Given the description of an element on the screen output the (x, y) to click on. 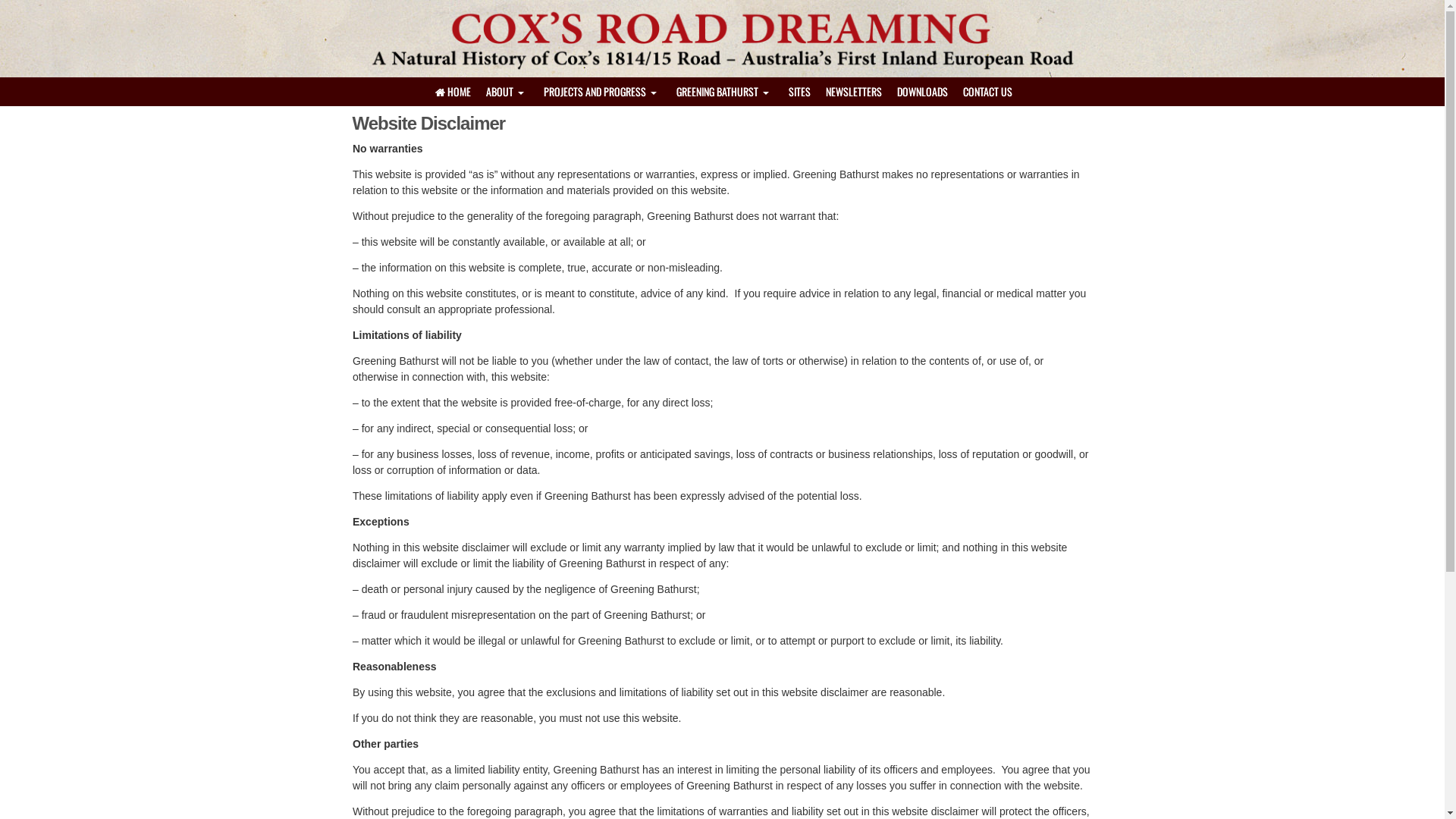
SITES Element type: text (799, 91)
GREENING BATHURST Element type: text (724, 91)
PROJECTS AND PROGRESS Element type: text (601, 91)
ABOUT Element type: text (506, 91)
DOWNLOADS Element type: text (921, 91)
NEWSLETTERS Element type: text (853, 91)
HOME Element type: text (451, 91)
CONTACT US Element type: text (987, 91)
